Given the description of an element on the screen output the (x, y) to click on. 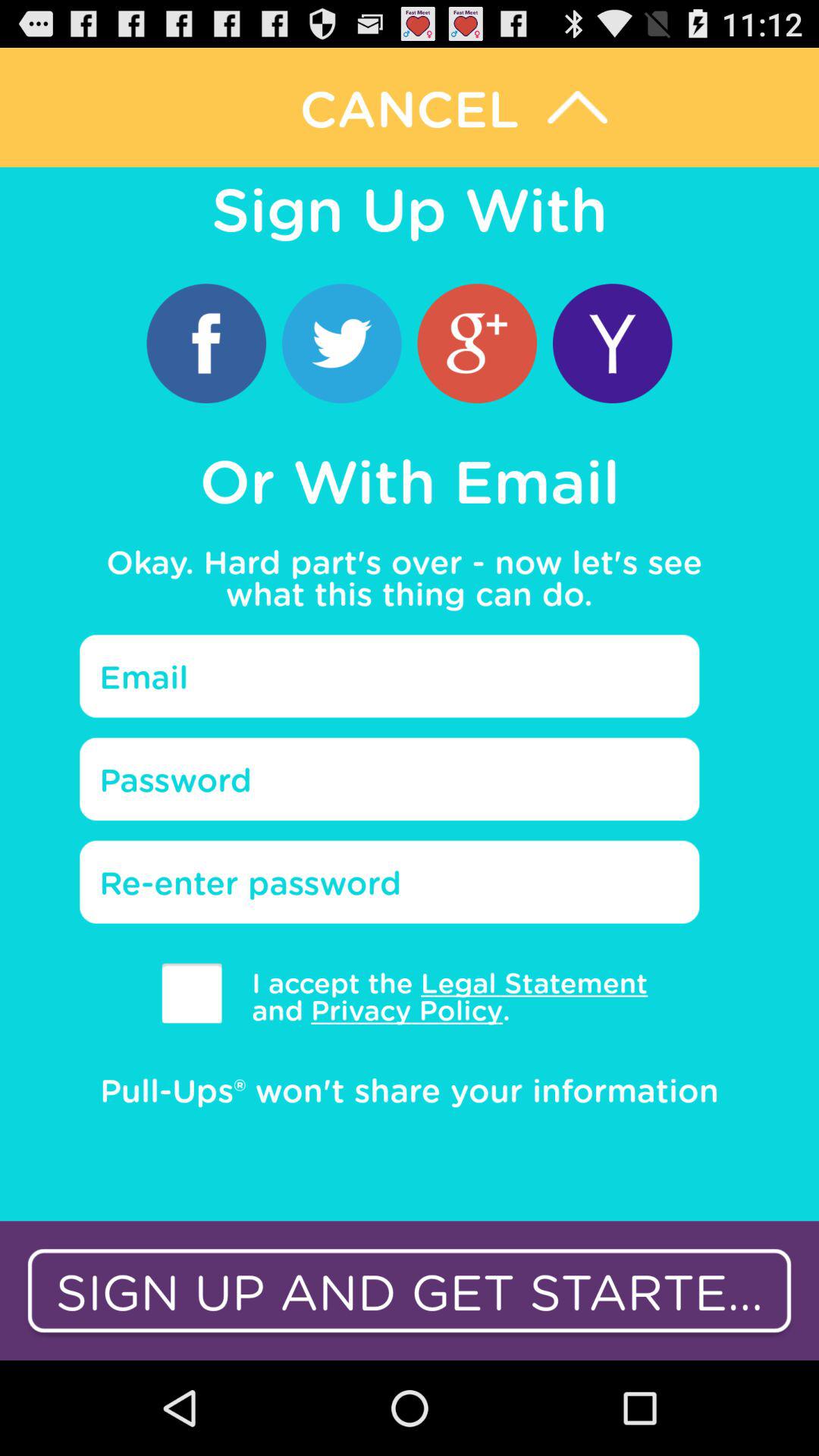
turn off icon below the sign up with (206, 343)
